Given the description of an element on the screen output the (x, y) to click on. 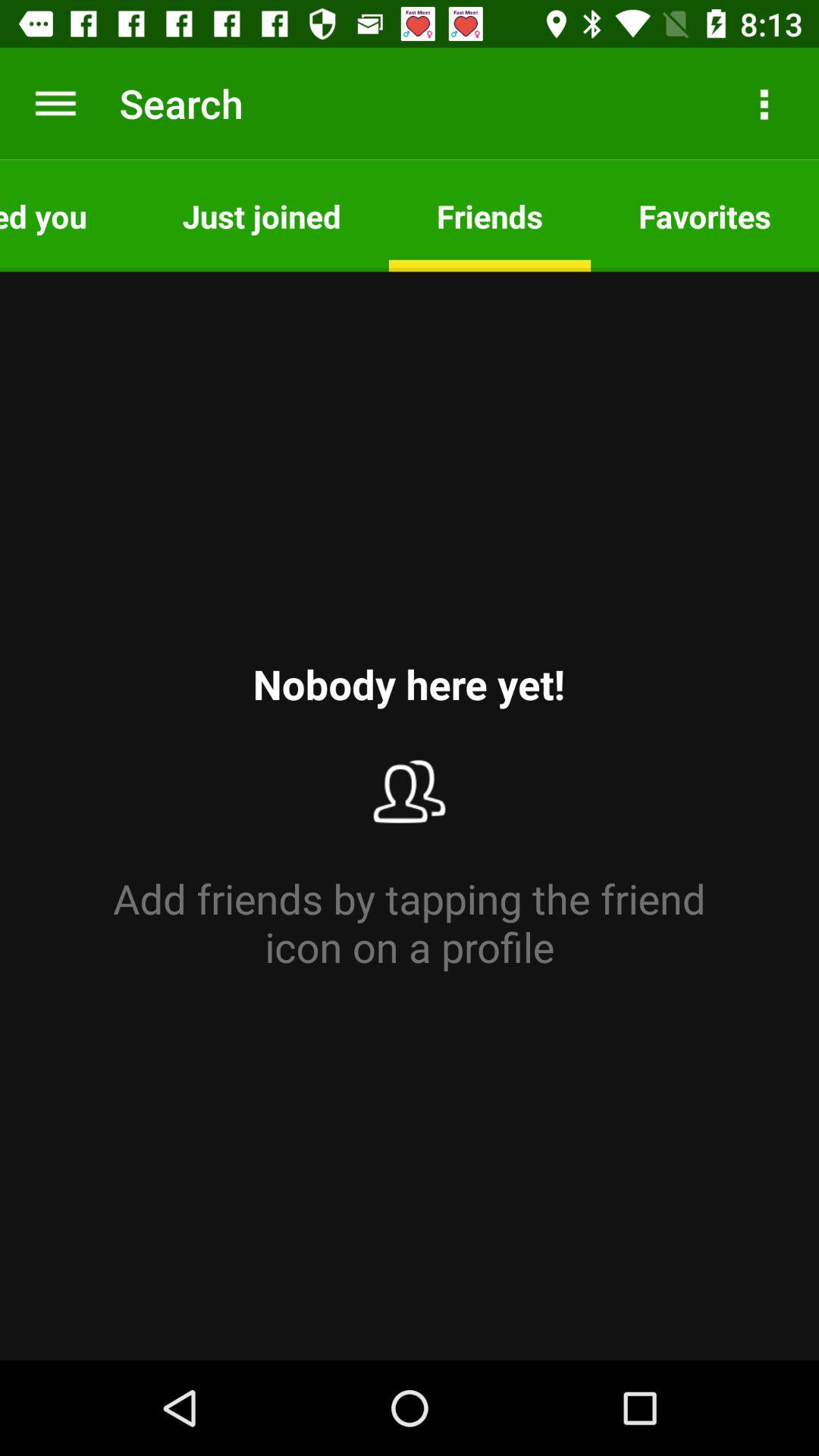
click the item next to the just joined icon (67, 215)
